Given the description of an element on the screen output the (x, y) to click on. 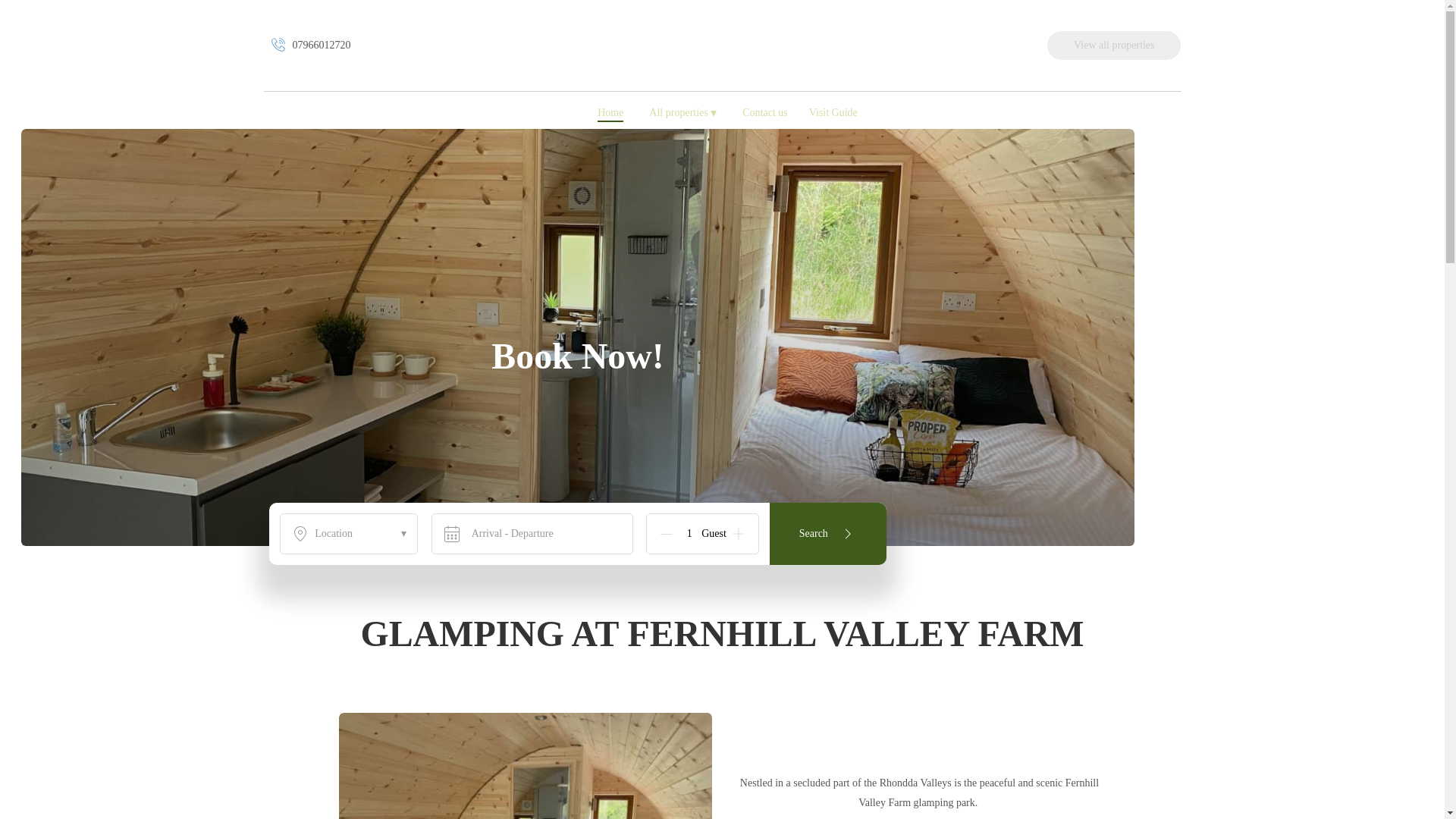
1 (689, 533)
Contact us (764, 114)
Visit Guide (833, 114)
Glamping at Fernhill Valley Farm (722, 45)
Search (828, 533)
Home (609, 114)
Glamping at Fernhill Valley Farm (722, 67)
View all properties (1113, 44)
07966012720 (308, 45)
Image Title (722, 35)
